Given the description of an element on the screen output the (x, y) to click on. 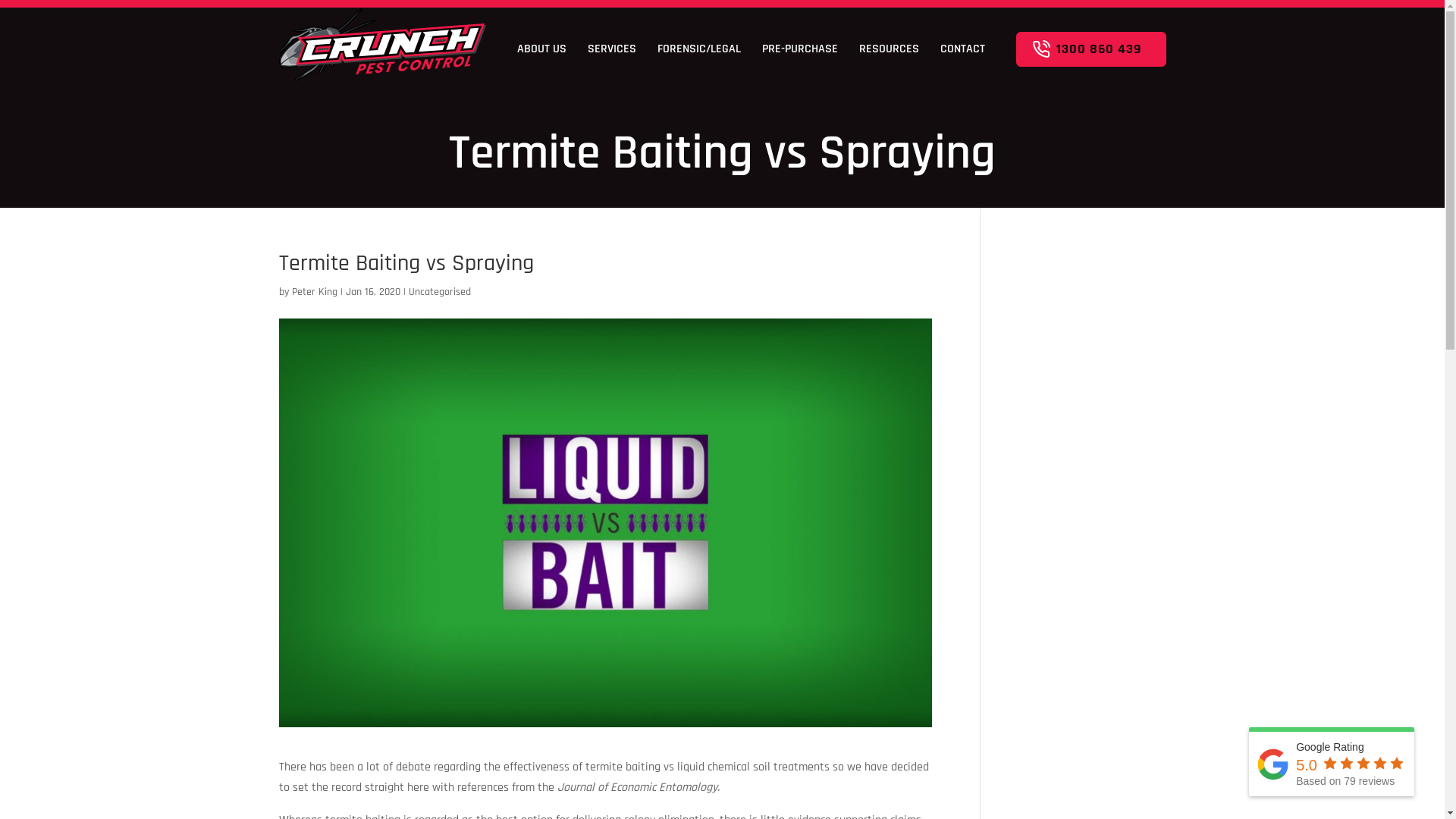
ABOUT US Element type: text (541, 48)
Peter King Element type: text (313, 291)
PRE-PURCHASE Element type: text (799, 48)
Uncategorised Element type: text (438, 291)
SERVICES Element type: text (611, 48)
FORENSIC/LEGAL Element type: text (698, 48)
CONTACT Element type: text (962, 48)
RESOURCES Element type: text (889, 48)
1300 860 439 Element type: text (1091, 48)
